Given the description of an element on the screen output the (x, y) to click on. 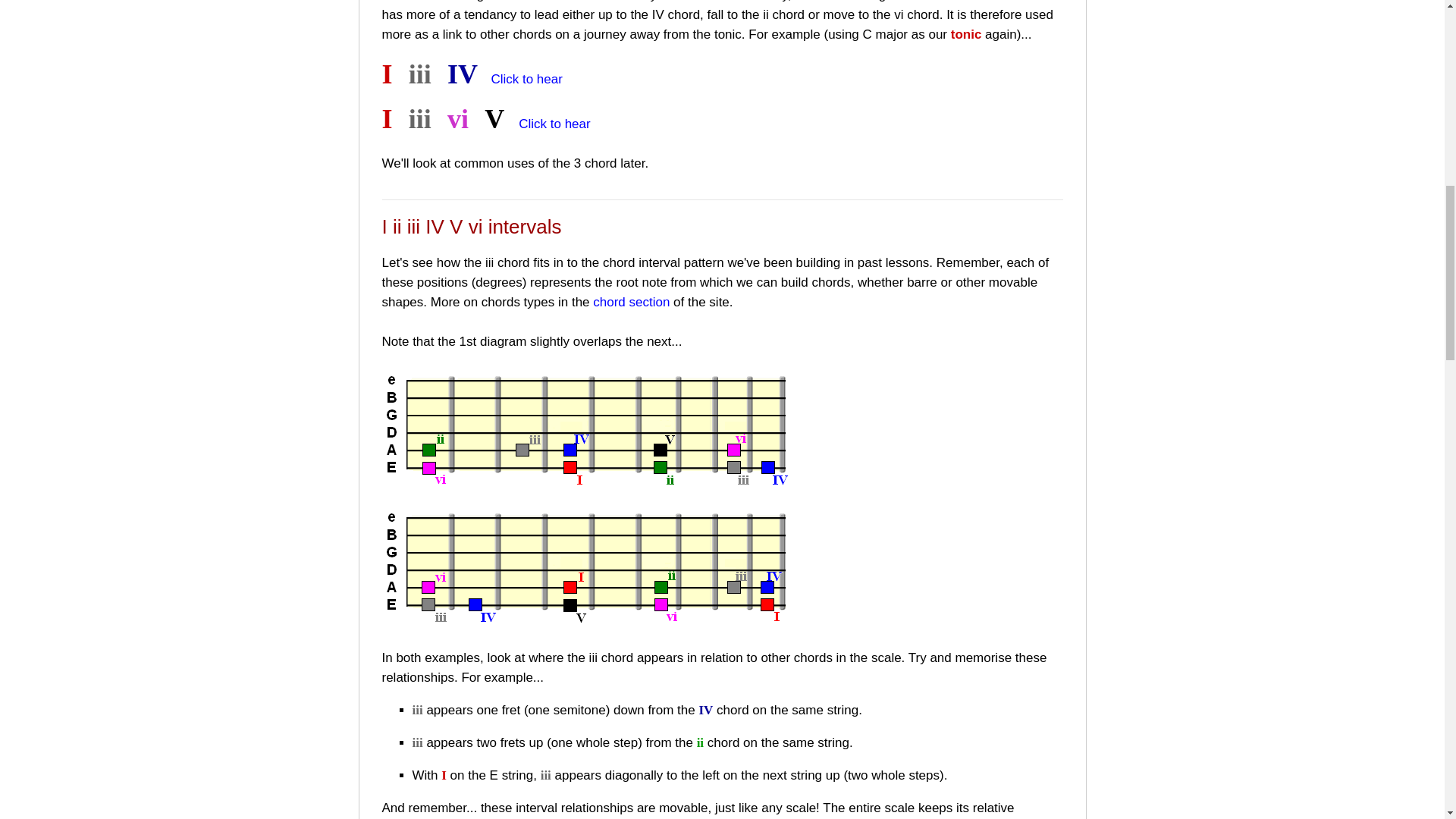
Click to hear (553, 124)
chord section (630, 301)
Click to hear (526, 79)
